Given the description of an element on the screen output the (x, y) to click on. 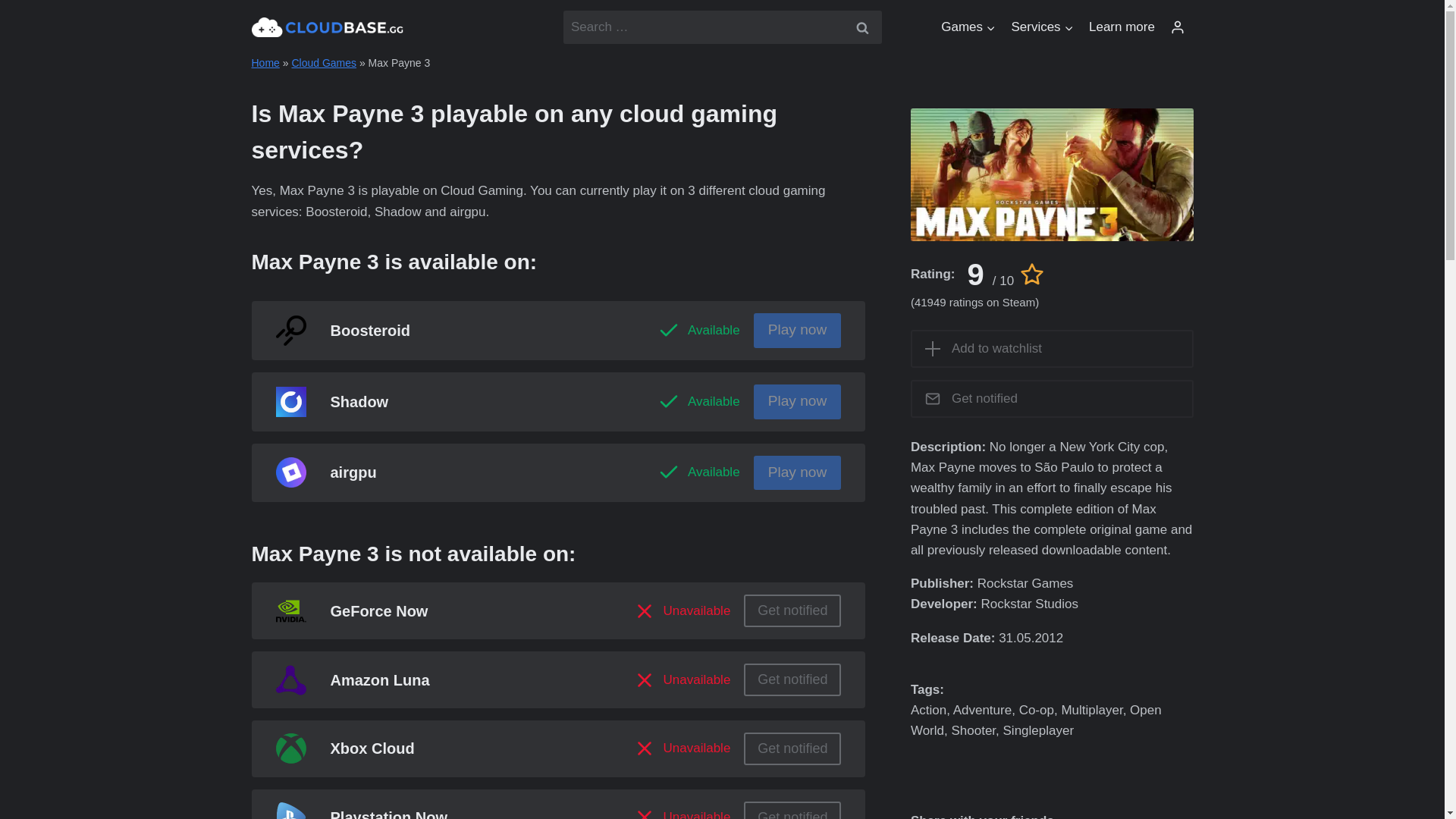
Search (861, 27)
Services (1042, 27)
Search (861, 27)
Learn more (1121, 27)
Search (861, 27)
Games (968, 27)
Max Payne 3 2 (1052, 174)
